Given the description of an element on the screen output the (x, y) to click on. 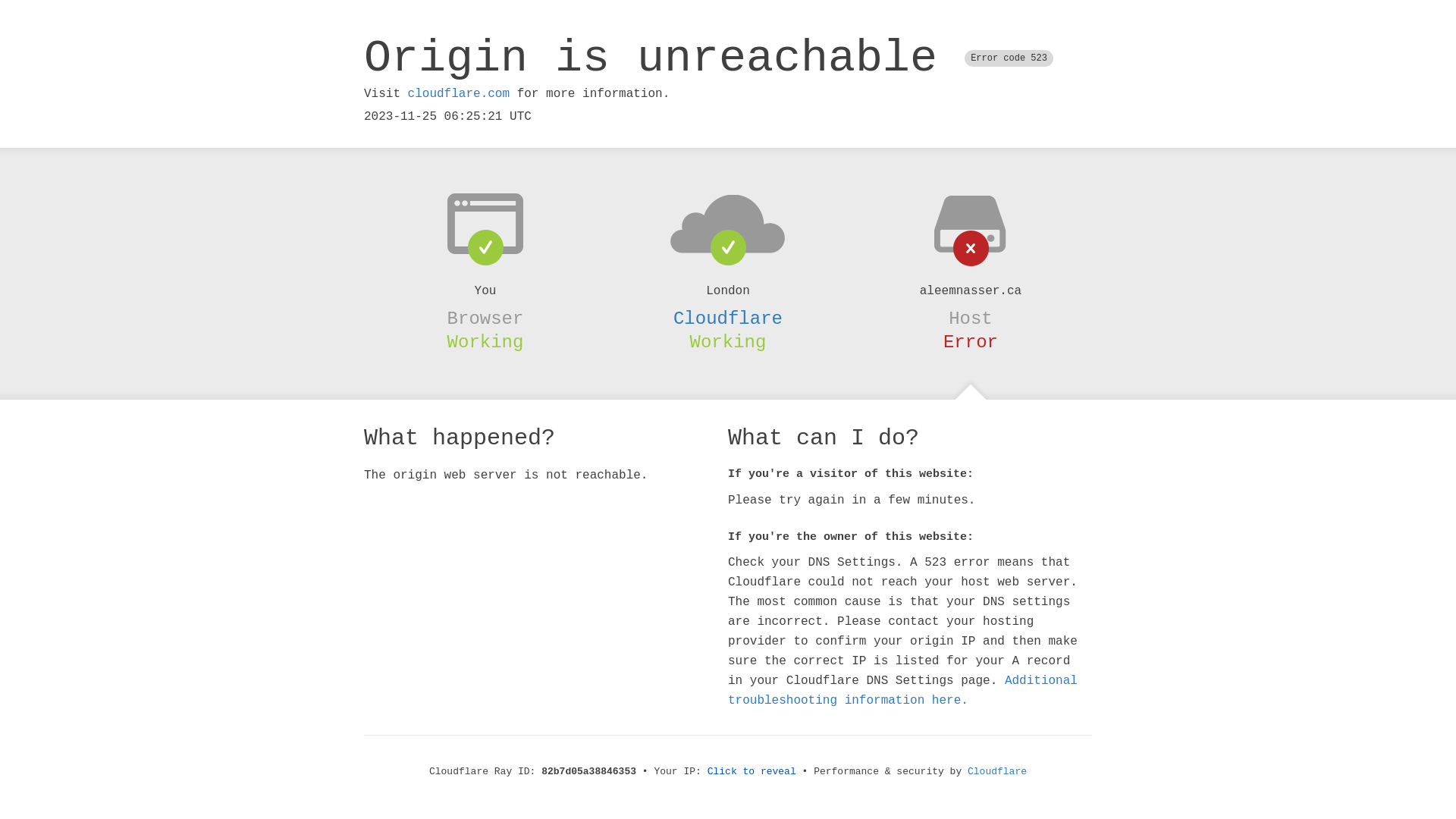
Cloudflare Element type: text (996, 771)
Cloudflare Element type: text (727, 318)
cloudflare.com Element type: text (458, 93)
Additional troubleshooting information here. Element type: text (902, 690)
Click to reveal Element type: text (751, 771)
